Given the description of an element on the screen output the (x, y) to click on. 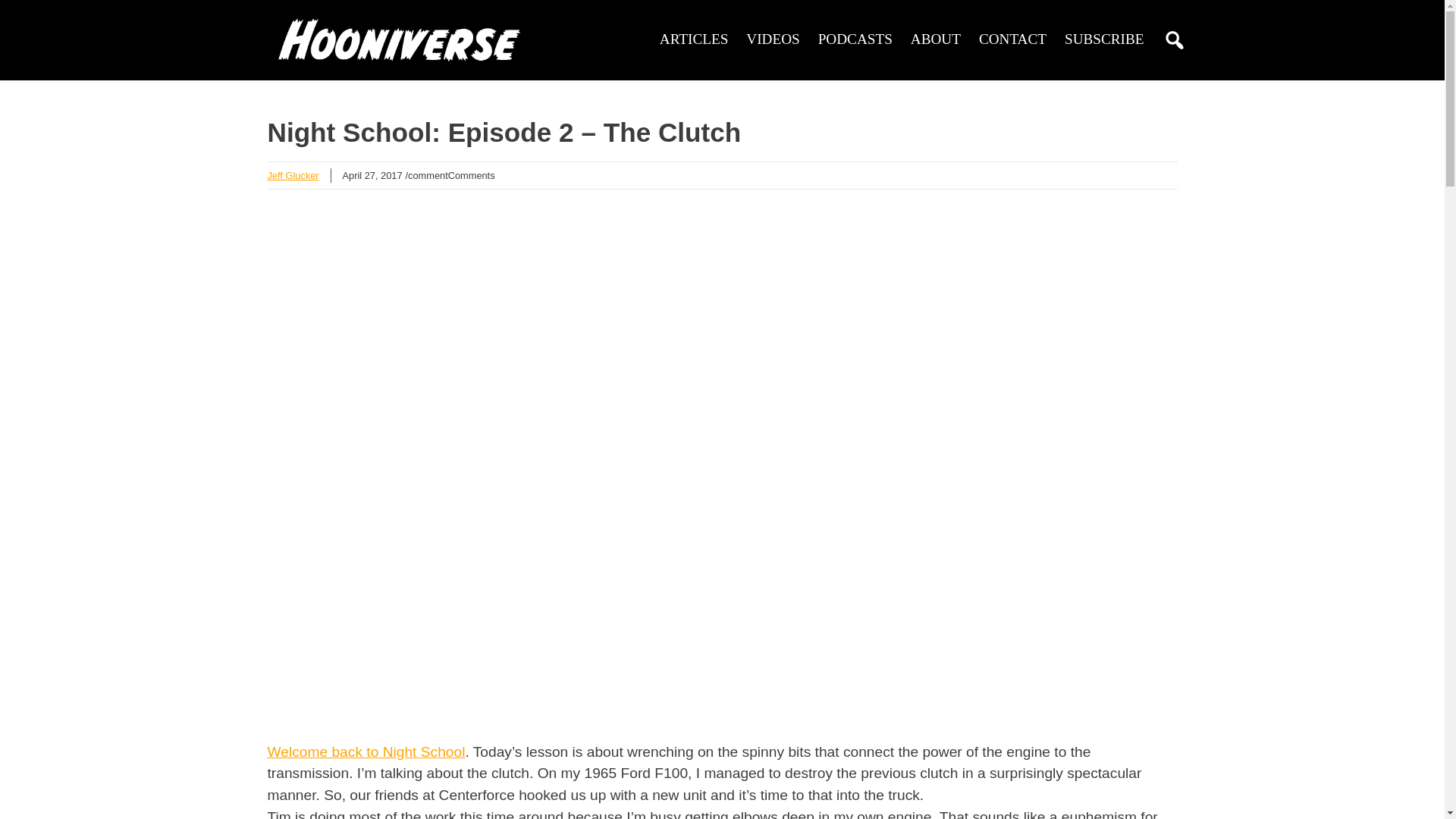
CONTACT (1012, 39)
ARTICLES (694, 39)
ABOUT (935, 39)
Welcome back to Night School (365, 751)
Jeff Glucker (292, 174)
PODCASTS (855, 39)
VIDEOS (772, 39)
SUBSCRIBE (1104, 39)
